Given the description of an element on the screen output the (x, y) to click on. 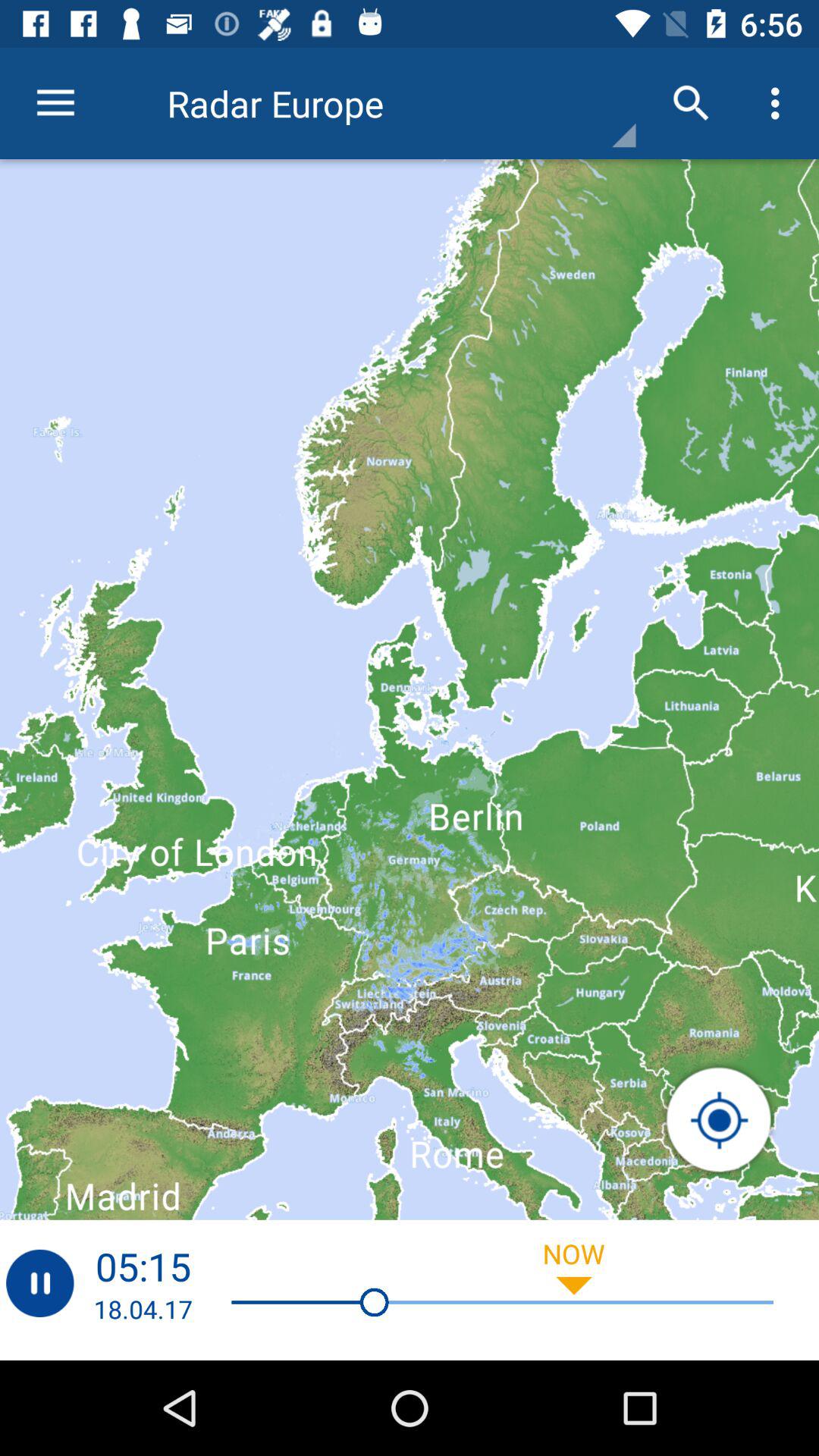
location (719, 1120)
